Given the description of an element on the screen output the (x, y) to click on. 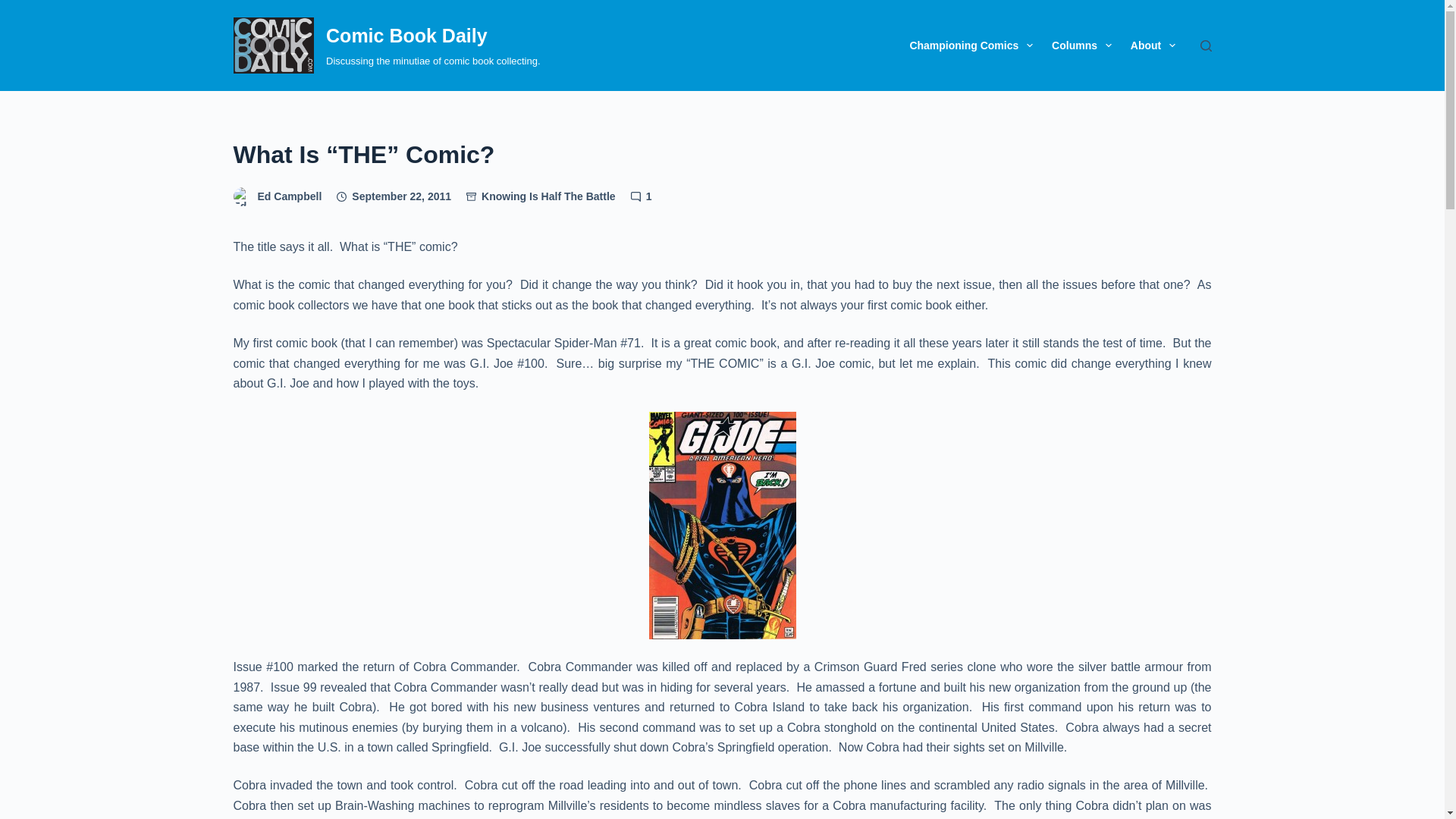
Posts by Ed Campbell (289, 196)
Skip to content (15, 7)
Championing Comics (970, 45)
Comic Book Daily (406, 35)
